Given the description of an element on the screen output the (x, y) to click on. 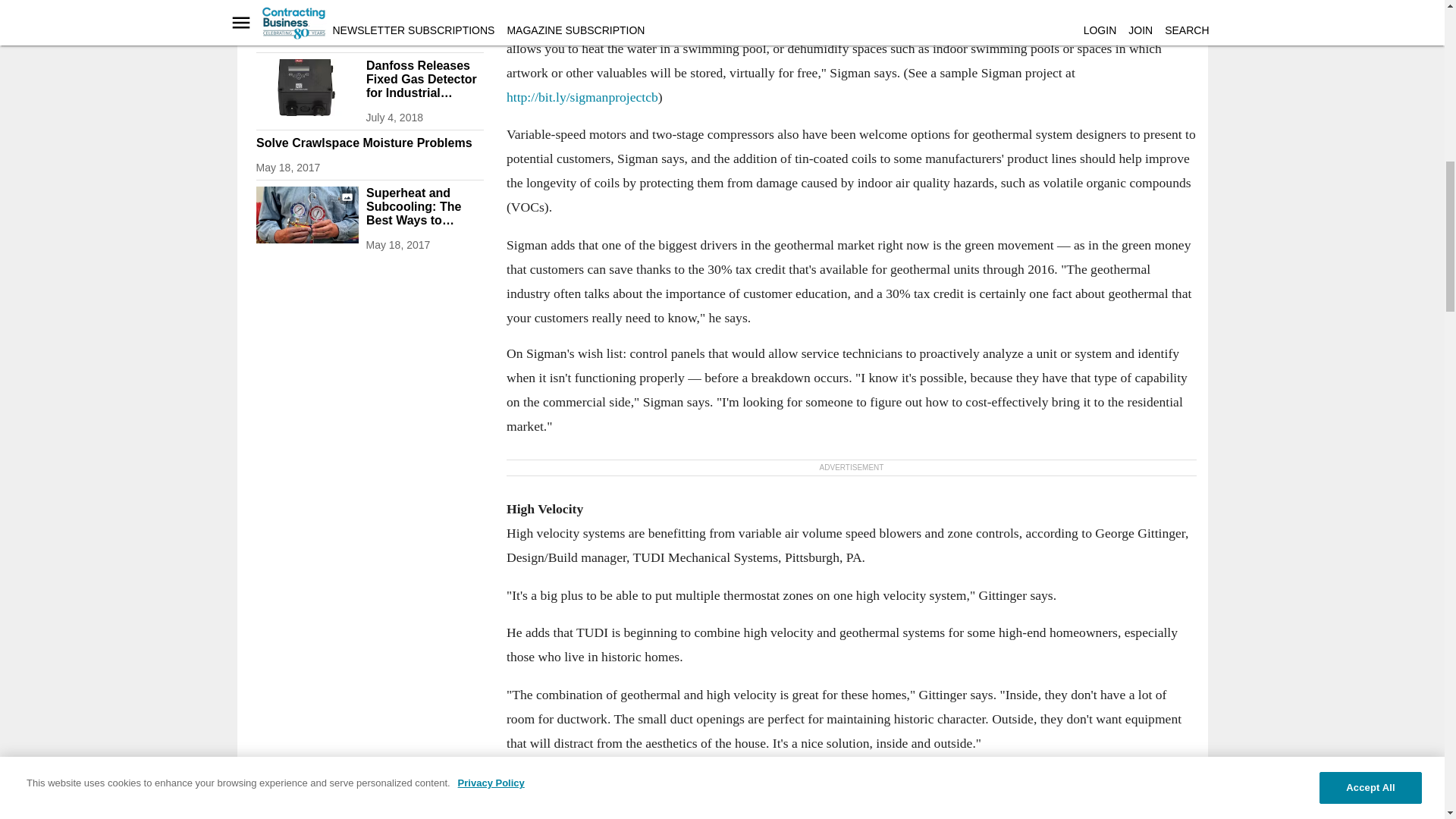
Refrigerant Gauges (307, 214)
print (307, 19)
